Given the description of an element on the screen output the (x, y) to click on. 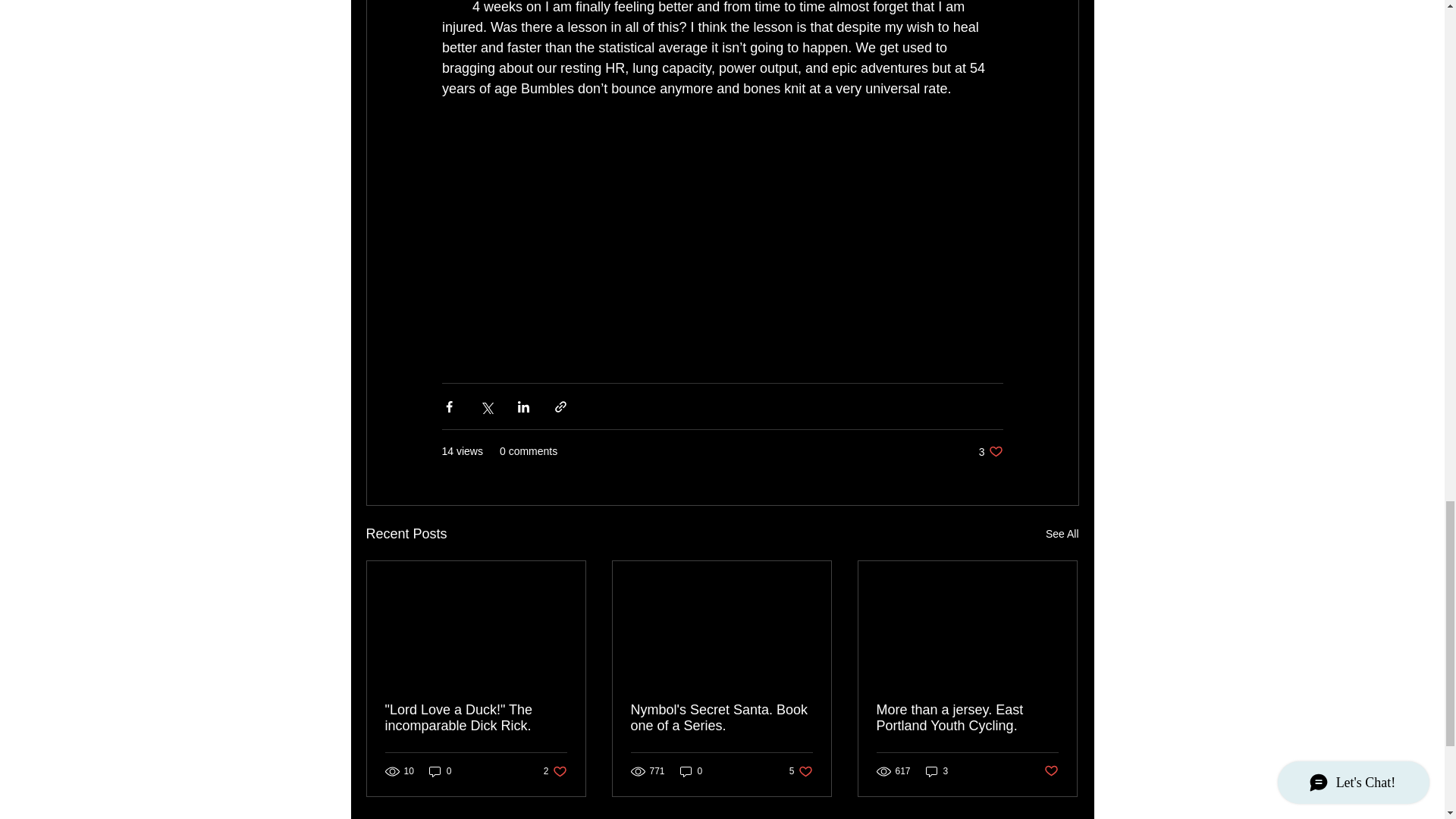
"Lord Love a Duck!" The incomparable Dick Rick. (990, 451)
See All (476, 717)
Nymbol's Secret Santa. Book one of a Series. (1061, 534)
0 (800, 771)
More than a jersey. East Portland Youth Cycling. (721, 717)
0 (440, 771)
Post not marked as liked (555, 771)
